Given the description of an element on the screen output the (x, y) to click on. 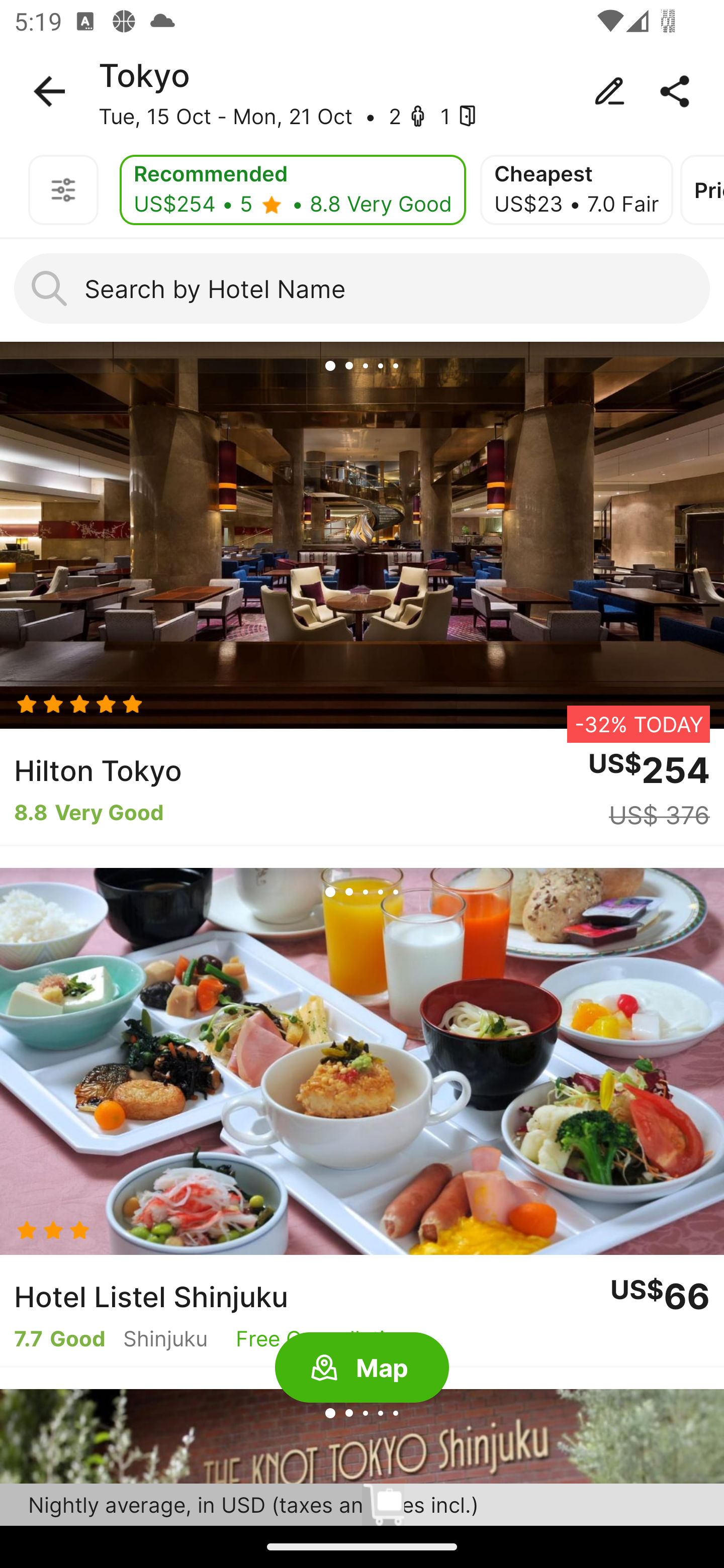
Tokyo Tue, 15 Oct - Mon, 21 Oct  •  2 -  1 - (361, 91)
Recommended  US$254  • 5 - • 8.8 Very Good (292, 190)
Cheapest US$23  • 7.0 Fair (576, 190)
Search by Hotel Name  (361, 288)
Map  (361, 1367)
